Given the description of an element on the screen output the (x, y) to click on. 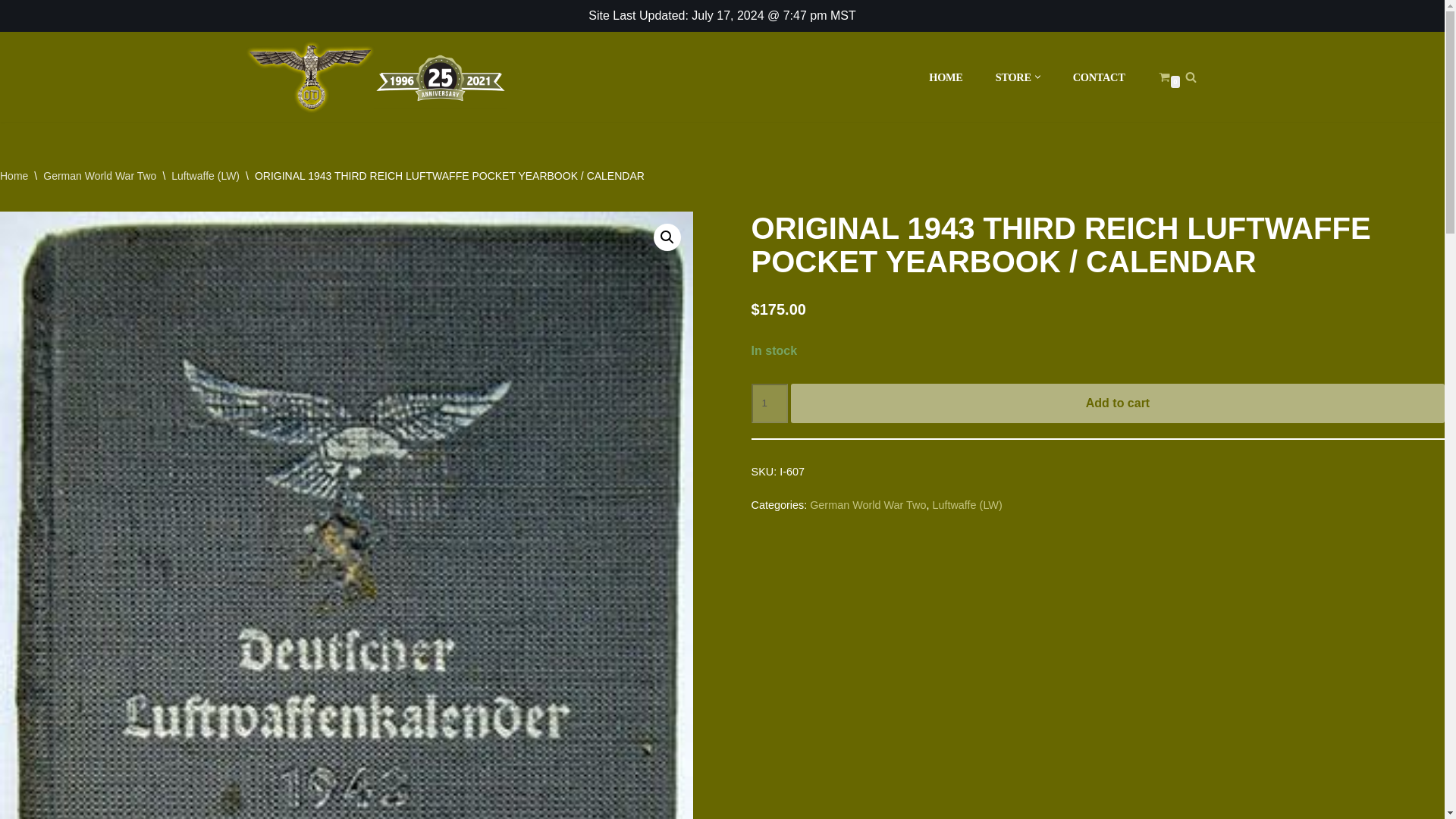
STORE (1012, 76)
0 (1164, 76)
1 (769, 403)
Skip to content (11, 31)
HOME (945, 76)
CONTACT (1099, 76)
